Given the description of an element on the screen output the (x, y) to click on. 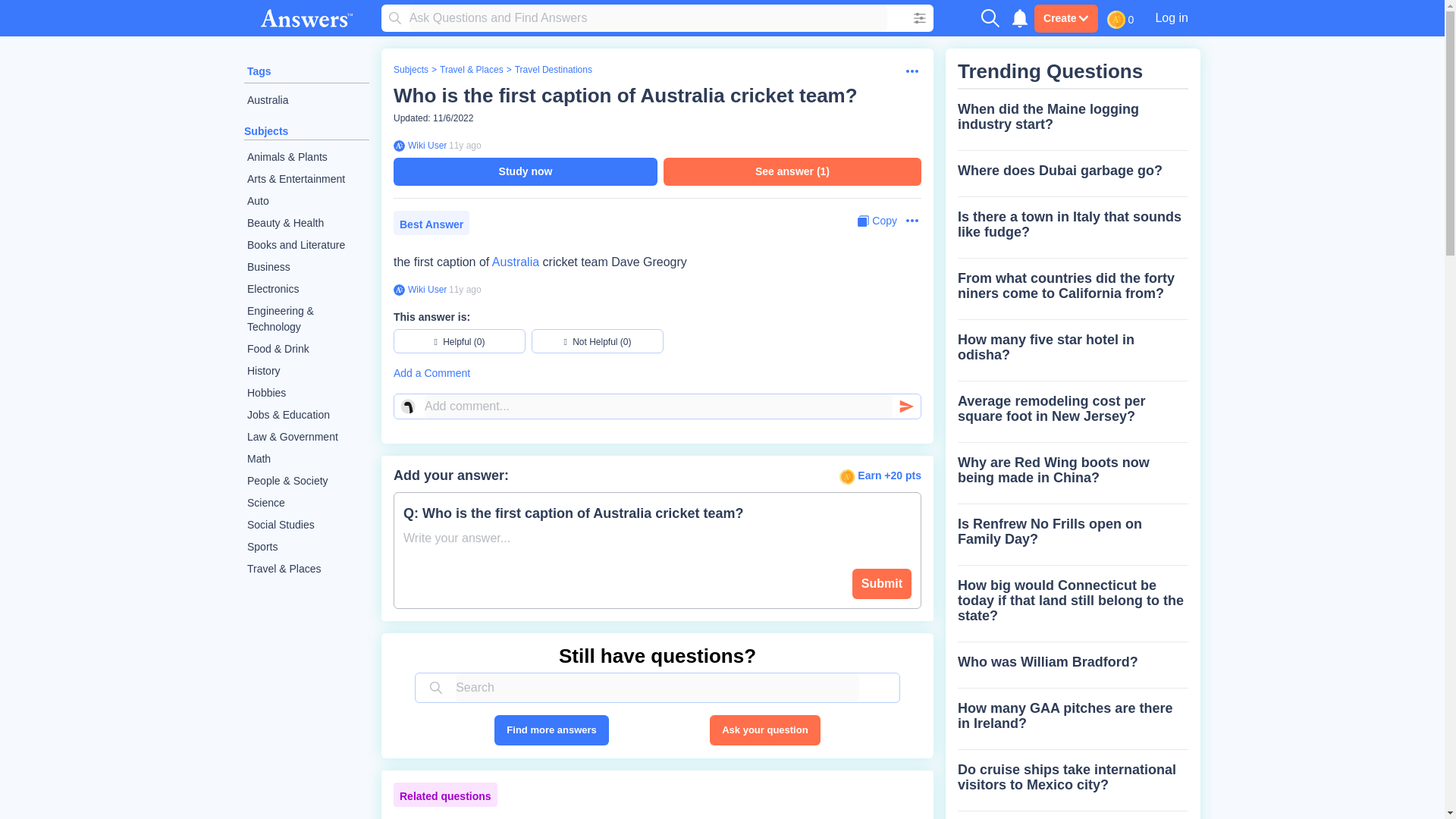
Books and Literature (306, 245)
Hobbies (306, 393)
Ask your question (764, 729)
Study now (525, 171)
Copy (876, 220)
Business (306, 267)
Math (306, 458)
Tags (258, 70)
Science (306, 503)
Who is the first caption of Australia cricket team? (625, 95)
Add a Comment (657, 373)
Australia (306, 100)
Auto (306, 201)
2012-08-11 15:22:34 (464, 289)
Australia (515, 261)
